Given the description of an element on the screen output the (x, y) to click on. 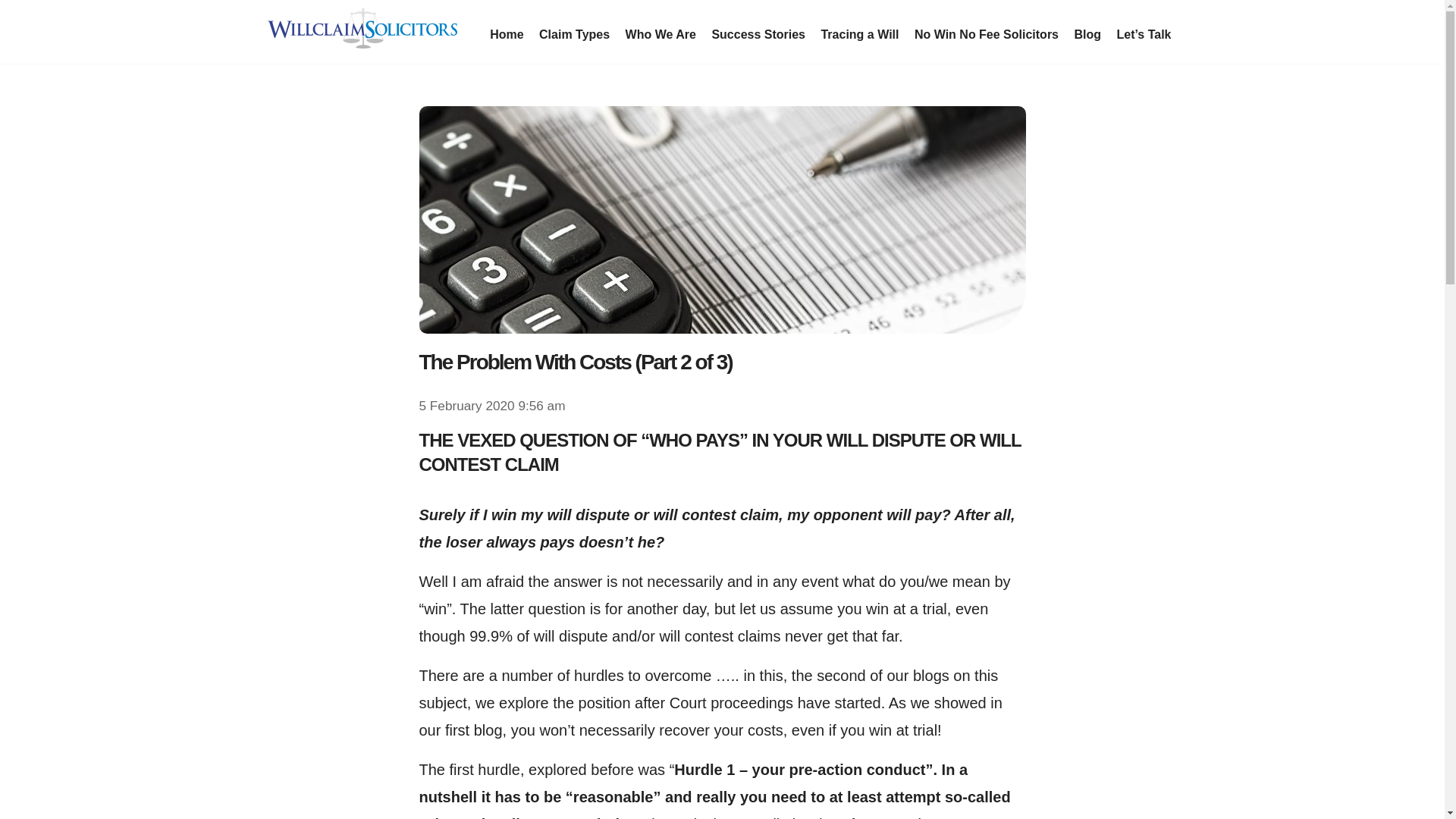
No Win No Fee Solicitors (986, 34)
Claim Types (573, 34)
Who We Are (660, 34)
Success Stories (757, 34)
Will Claim Solicitors (361, 27)
Blog (1086, 34)
Home (506, 34)
Tracing a Will (858, 34)
